Given the description of an element on the screen output the (x, y) to click on. 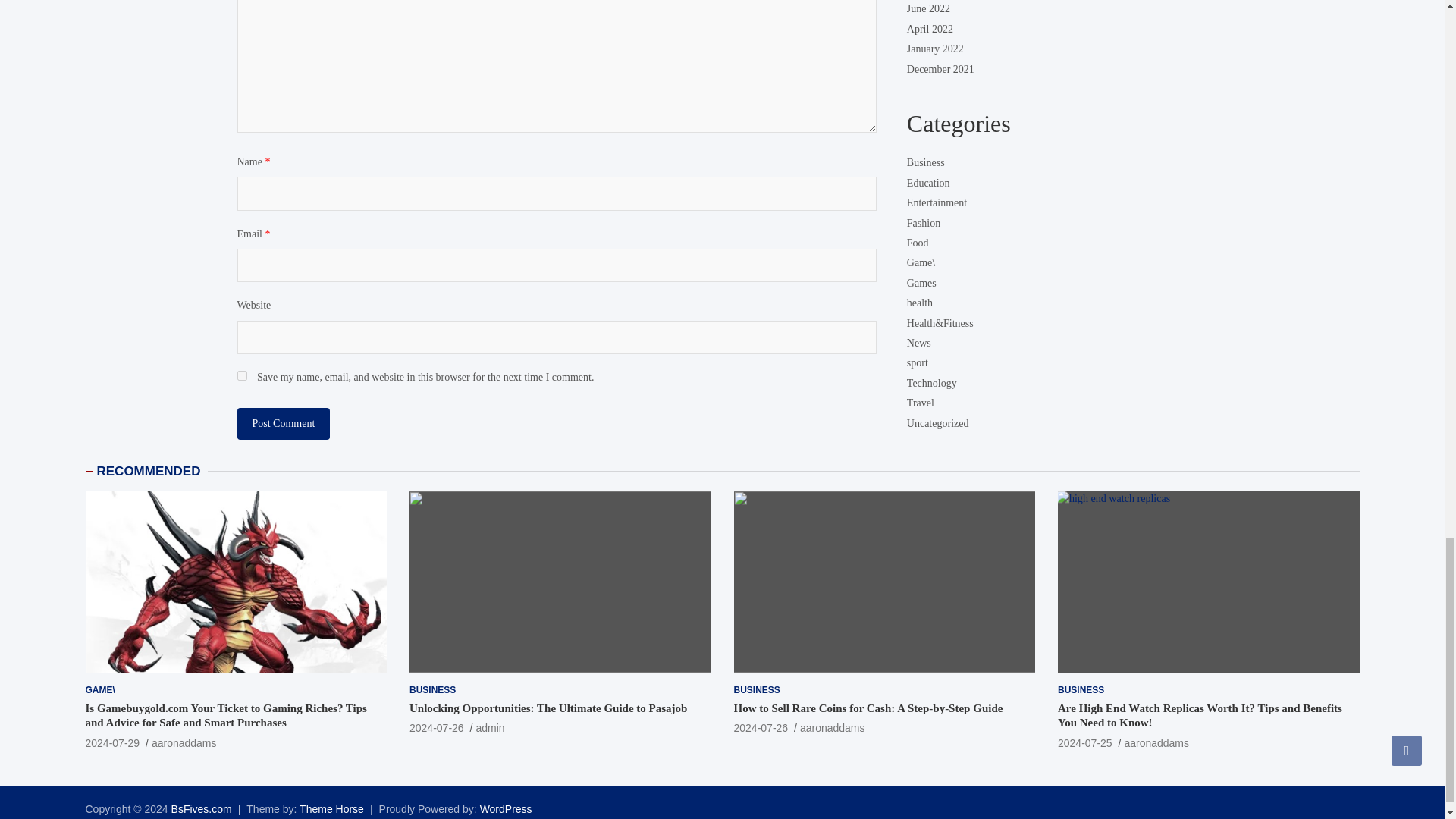
WordPress (506, 808)
Theme Horse (331, 808)
Post Comment (282, 423)
How to Sell Rare Coins for Cash: A Step-by-Step Guide (761, 727)
BsFives.com (201, 808)
yes (240, 375)
Unlocking Opportunities: The Ultimate Guide to Pasajob (436, 727)
Post Comment (282, 423)
